Given the description of an element on the screen output the (x, y) to click on. 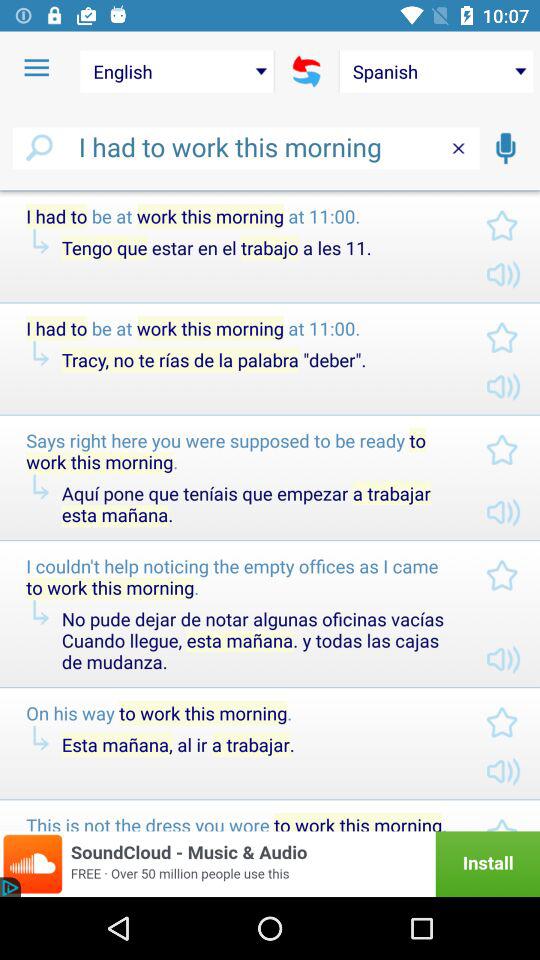
turn off the icon below says right here icon (257, 504)
